Given the description of an element on the screen output the (x, y) to click on. 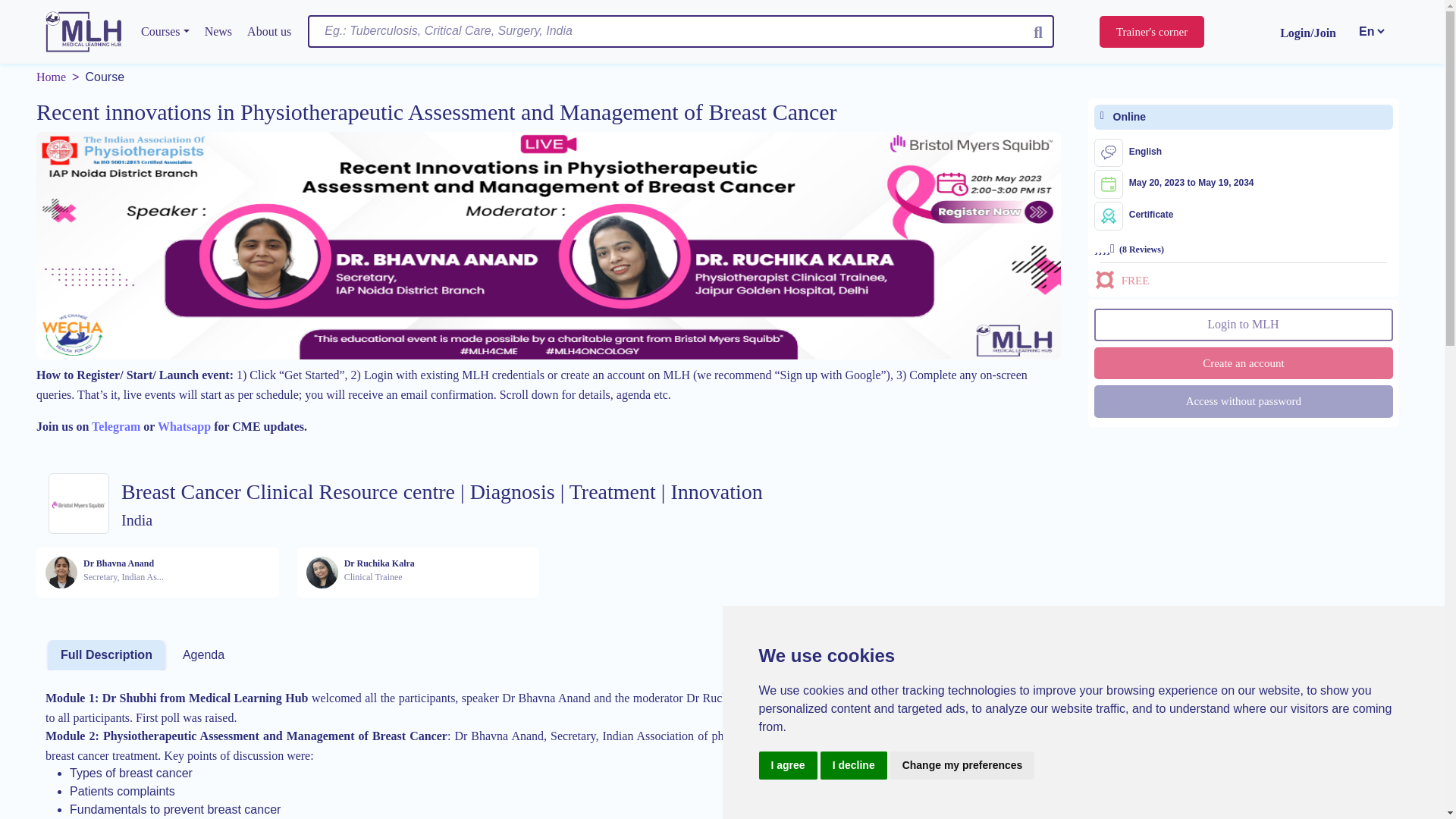
Telegram (115, 426)
Trainer's corner (1151, 31)
News (218, 31)
About us (269, 31)
Courses (164, 31)
Home (50, 76)
Whatsapp (184, 426)
Change my preferences (962, 765)
I decline (853, 765)
I agree (787, 765)
